Given the description of an element on the screen output the (x, y) to click on. 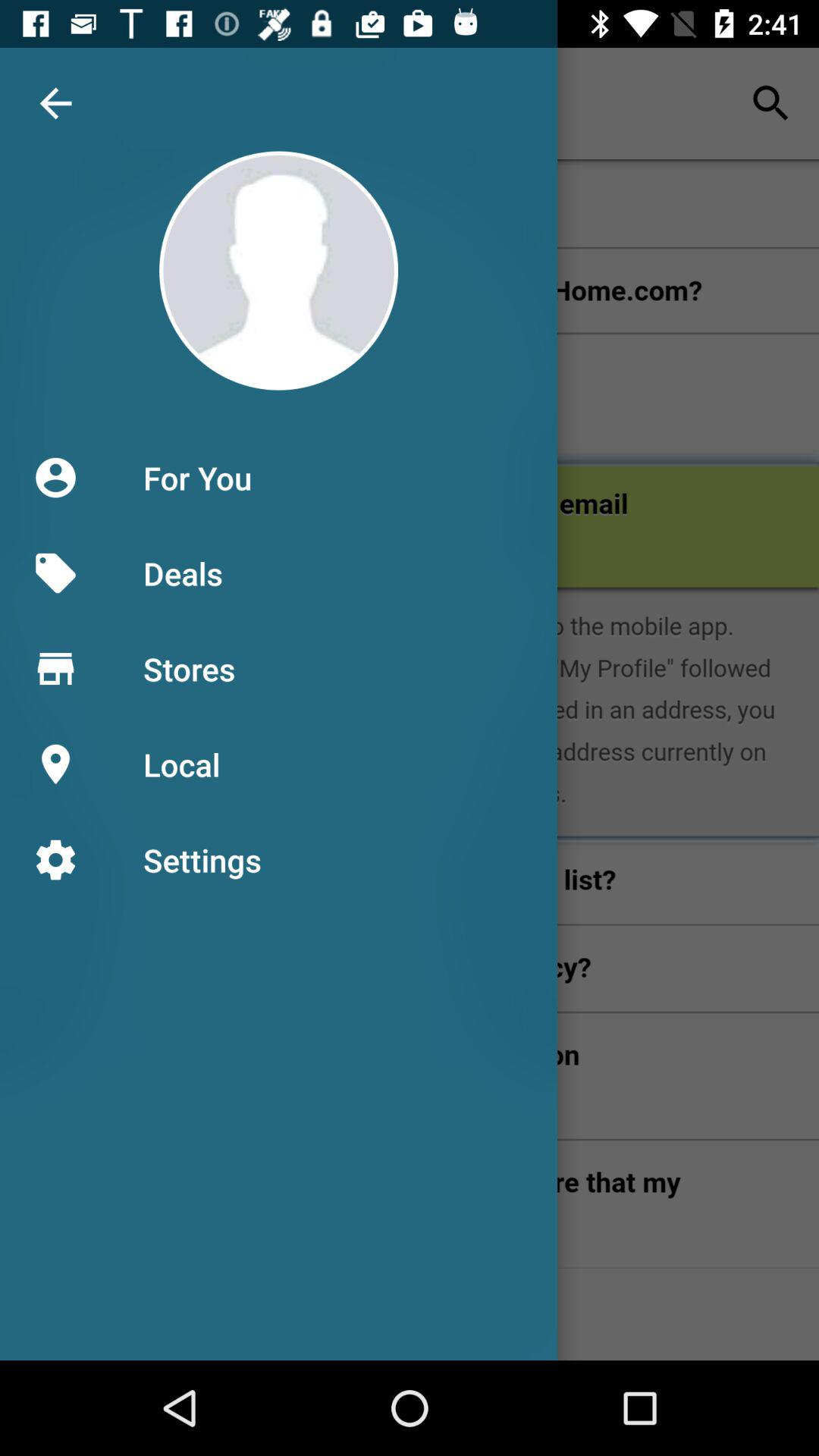
magnifier icon (771, 103)
